Given the description of an element on the screen output the (x, y) to click on. 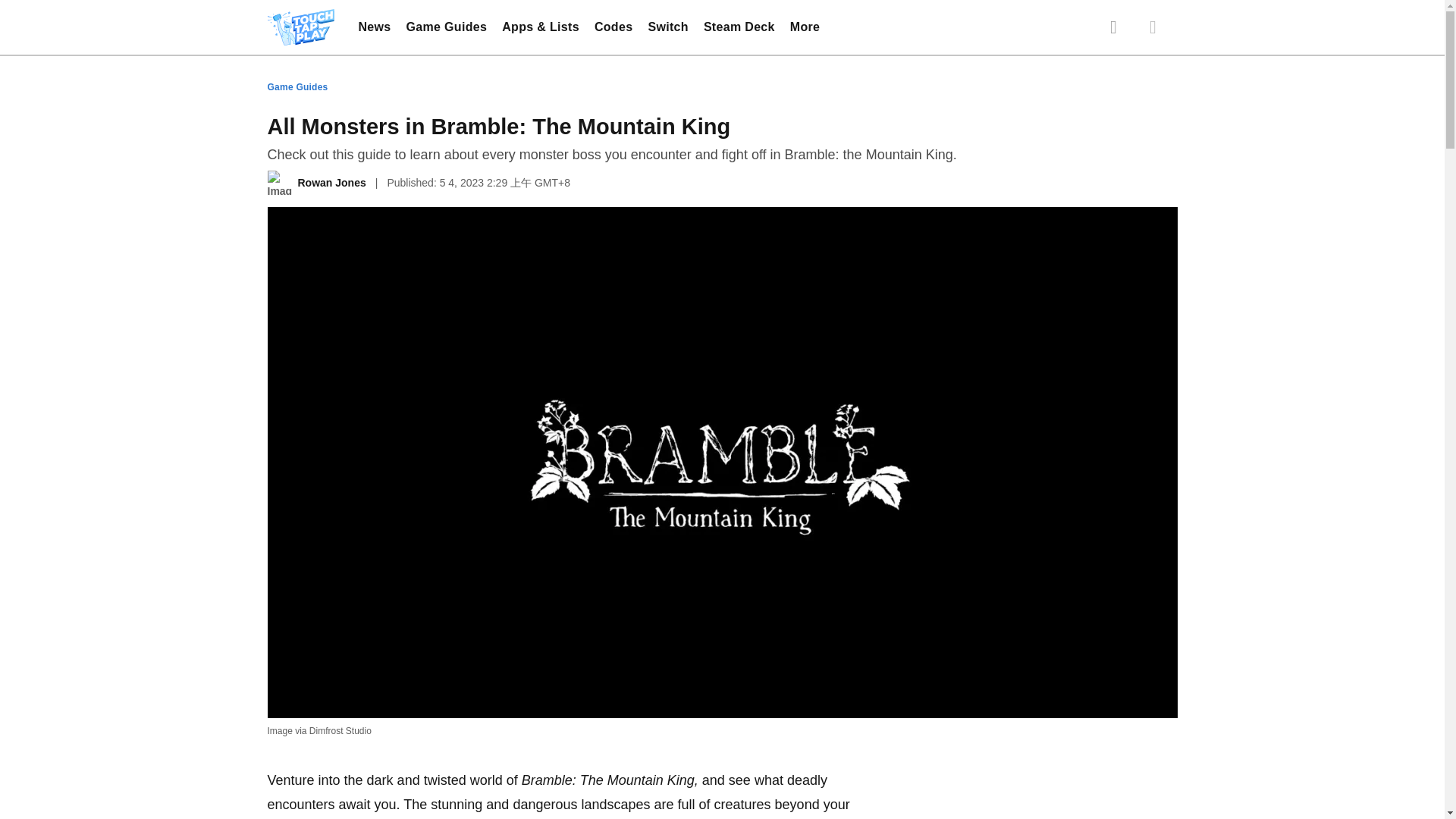
Codes (613, 26)
Steam Deck (738, 26)
Switch (667, 26)
Game Guides (446, 26)
Search (1112, 27)
News (374, 26)
Dark Mode (1152, 27)
